Given the description of an element on the screen output the (x, y) to click on. 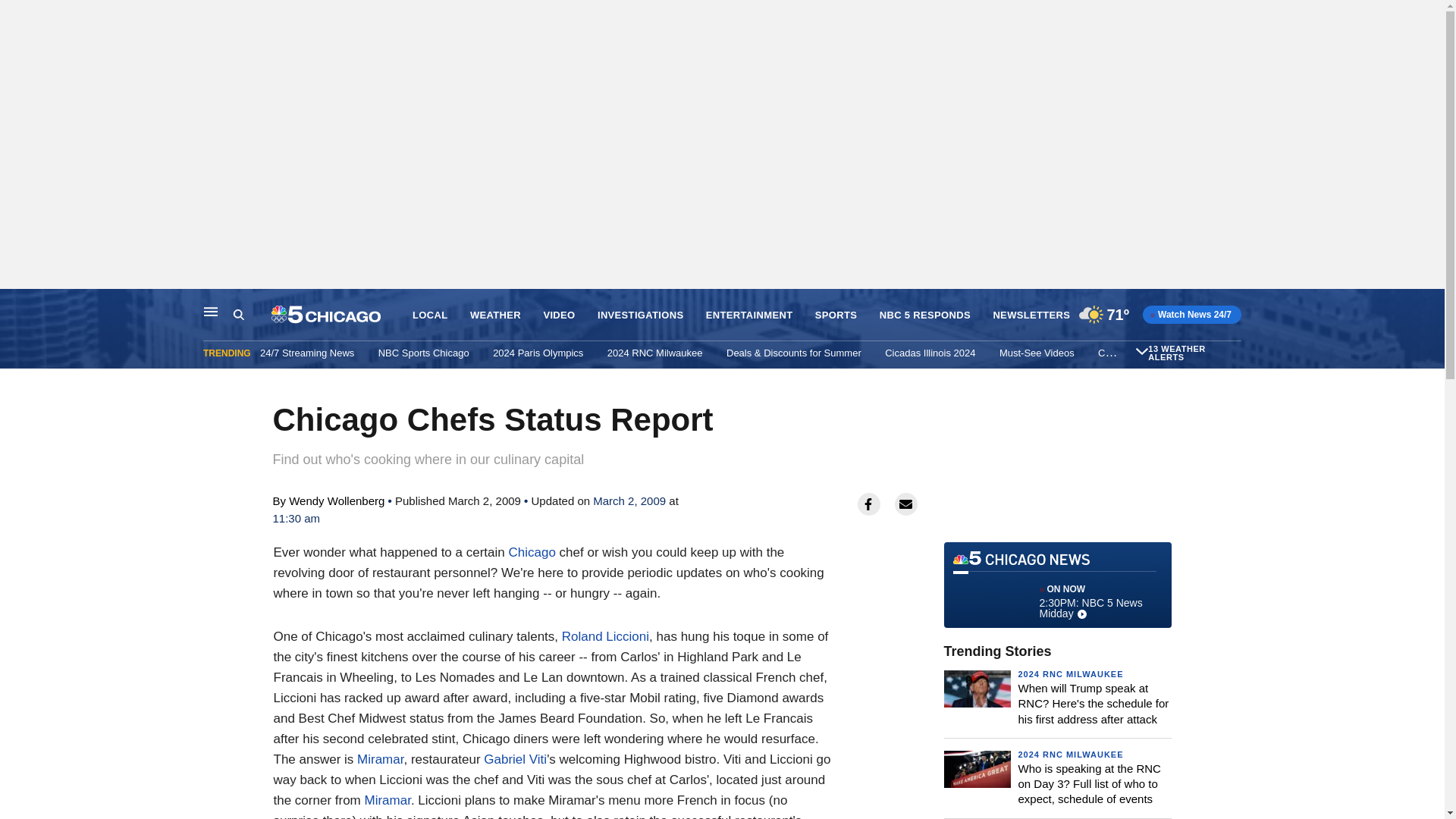
NBC Sports Chicago (423, 352)
Expand (1141, 350)
LOCAL (429, 315)
Chicago Today (1130, 352)
2024 RNC MILWAUKEE (1069, 673)
Miramar (387, 800)
Roland Liccioni (605, 636)
NEWSLETTERS (1031, 315)
ENTERTAINMENT (749, 315)
SPORTS (836, 315)
Must-See Videos (1036, 352)
Cicadas Illinois 2024 (930, 352)
Search (252, 314)
13 WEATHER ALERTS (1192, 352)
Miramar (379, 759)
